Given the description of an element on the screen output the (x, y) to click on. 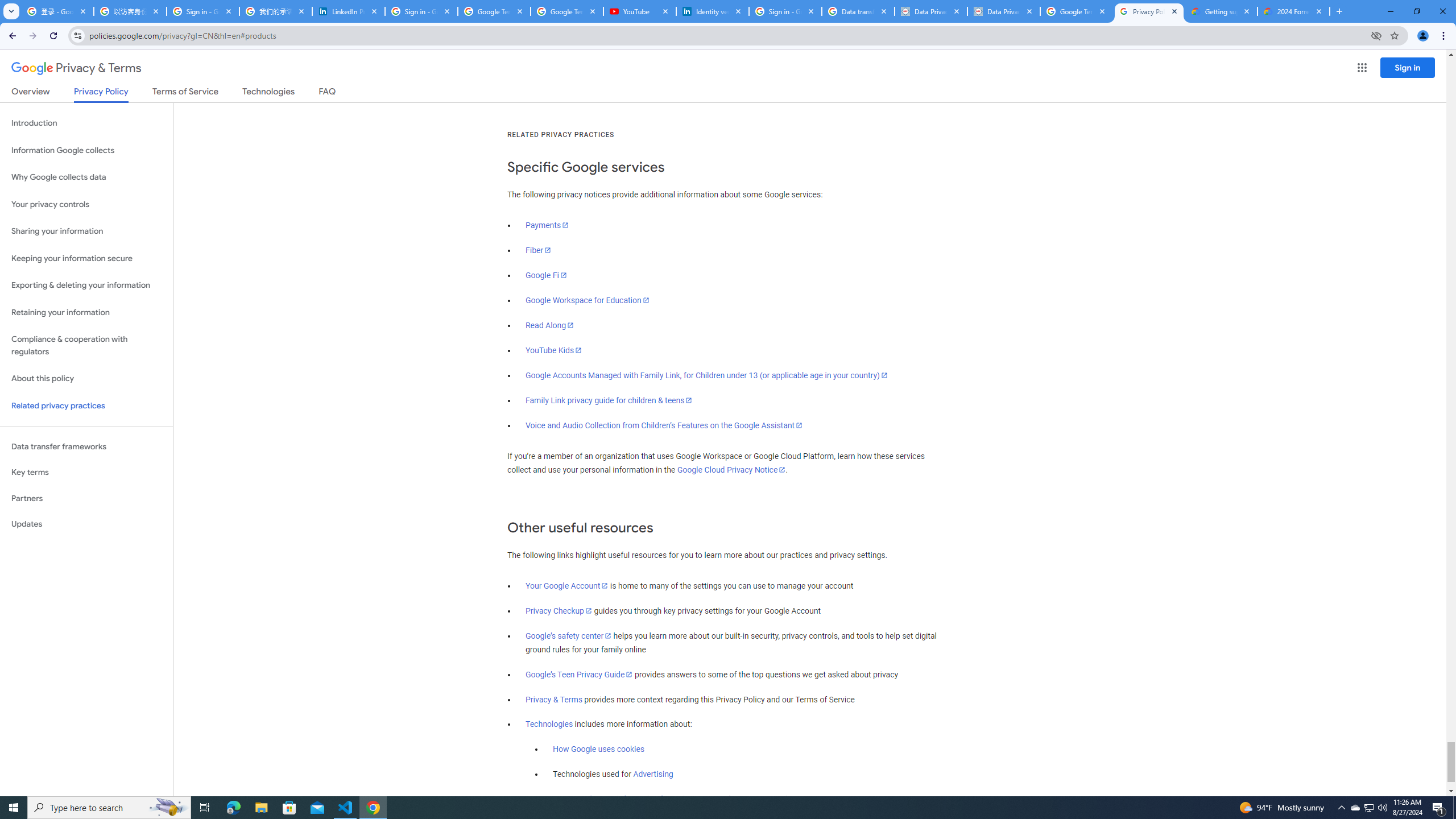
Sharing your information (86, 230)
Sign in - Google Accounts (202, 11)
Sign in - Google Accounts (785, 11)
Fiber (538, 249)
FAQ (327, 93)
Sign in - Google Accounts (421, 11)
Terms of Service (184, 93)
Google Cloud Privacy Notice (731, 469)
Overview (30, 93)
Data transfer frameworks (86, 446)
Google Fi (545, 275)
